Given the description of an element on the screen output the (x, y) to click on. 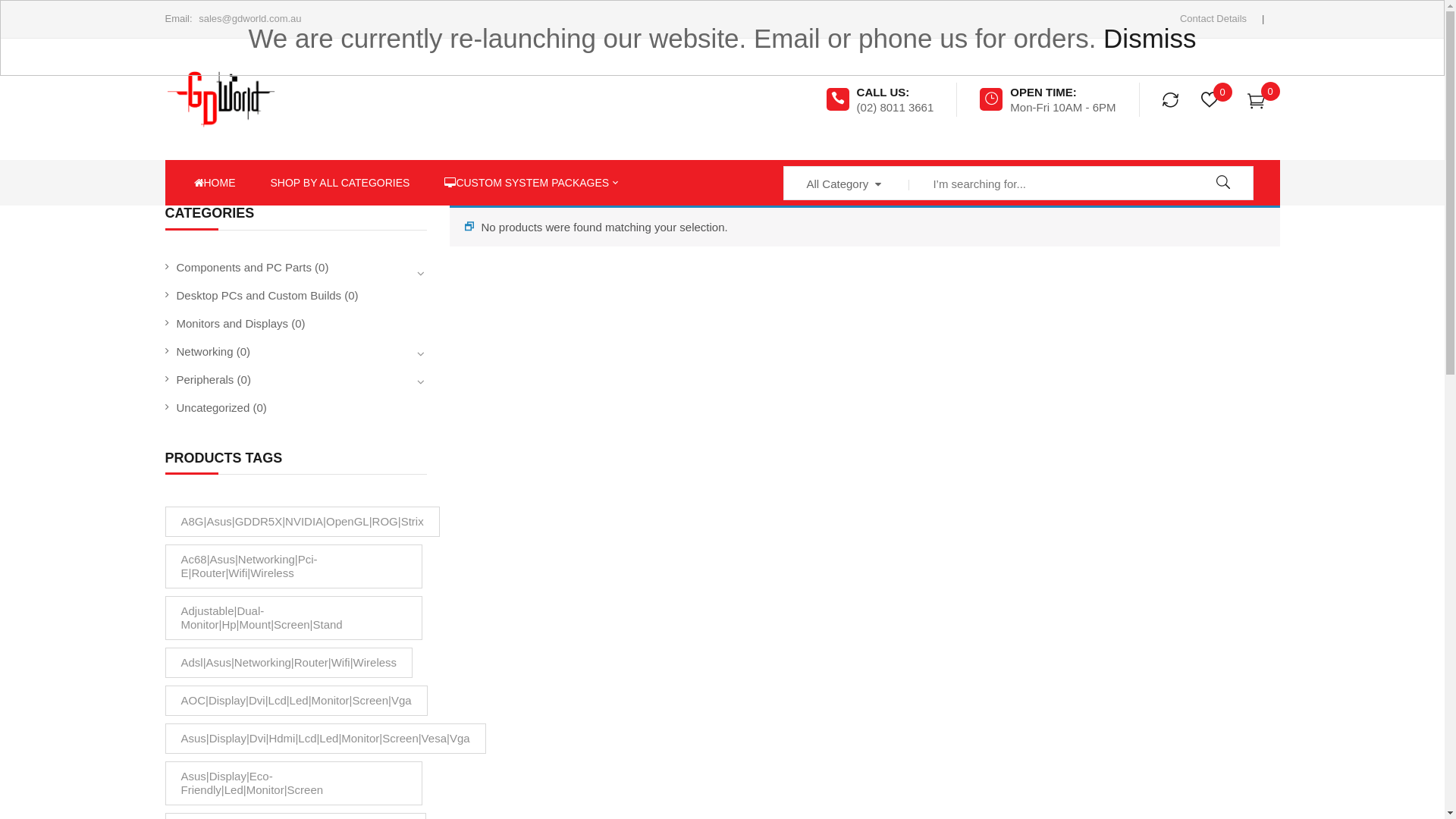
Ac68|Asus|networking|pci-E|router|wifi|wireless Element type: text (293, 566)
HOME Element type: text (214, 182)
CUSTOM SYSTEM PACKAGES Element type: text (531, 182)
SHOP BY ALL CATEGORIES Element type: text (339, 182)
AOC|display|dvi|lcd|led|monitor|screen|vga Element type: text (296, 700)
Monitors and Displays Element type: text (231, 322)
0 Element type: text (1258, 97)
Asus|display|dvi|hdmi|lcd|led|monitor|screen|vesa|vga Element type: text (325, 738)
Uncategorized Element type: text (212, 407)
Components and PC Parts Element type: text (242, 266)
Desktop PCs and Custom Builds Element type: text (258, 294)
Peripherals Element type: text (204, 379)
Adsl|Asus|networking|router|wifi|wireless Element type: text (289, 662)
sales@gdworld.com.au Element type: text (249, 18)
Contact Details Element type: text (1212, 18)
Asus|display|eco-Friendly|led|monitor|screen Element type: text (293, 783)
Networking Element type: text (203, 351)
A8G|Asus|GDDR5X|NVIDIA|OpenGL|ROG|Strix Element type: text (302, 521)
Adjustable|dual-Monitor|hp|mount|screen|stand Element type: text (293, 618)
Dismiss Element type: text (1149, 37)
